Given the description of an element on the screen output the (x, y) to click on. 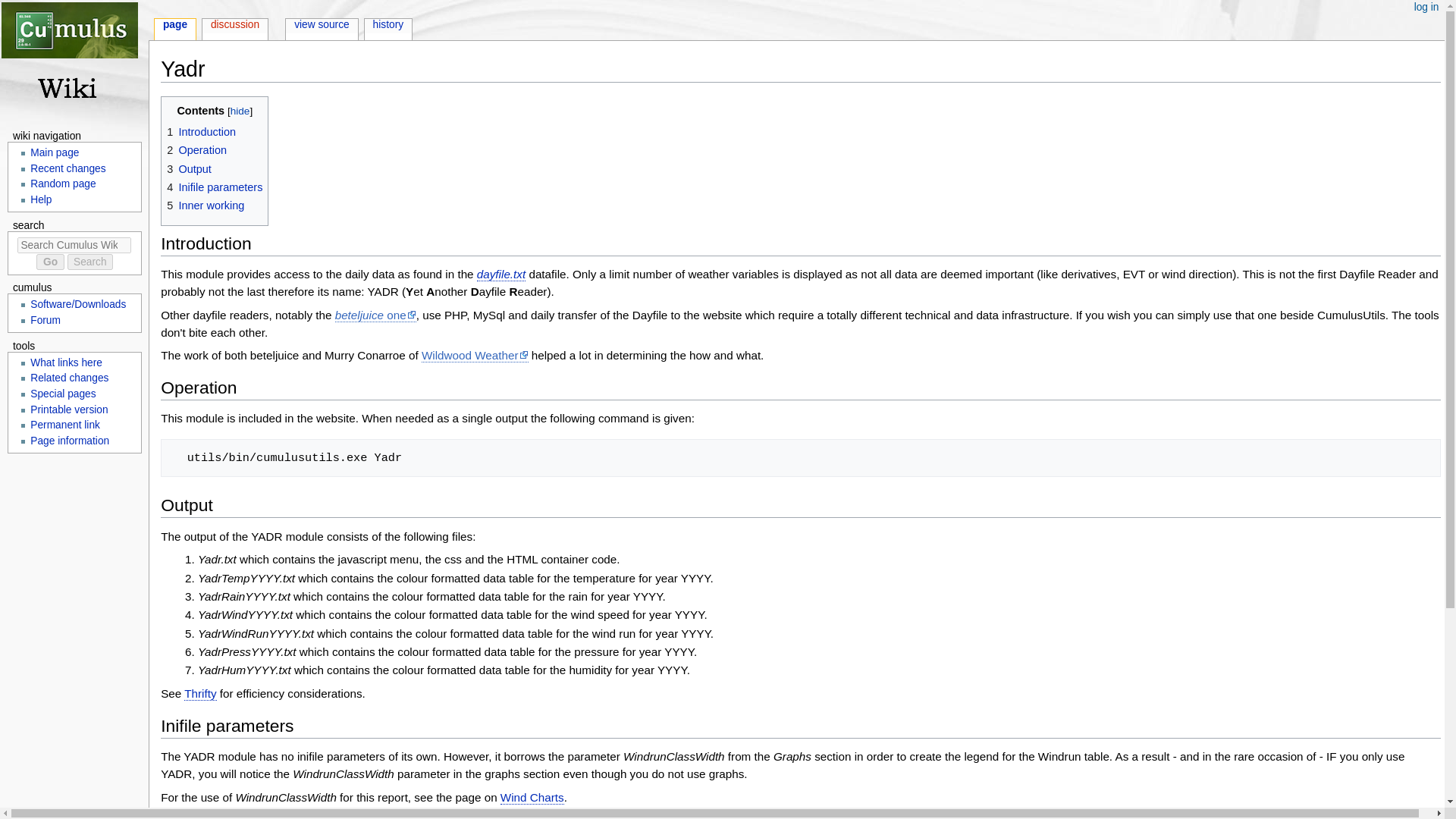
Permanent link (65, 424)
Recent changes (67, 168)
Go (50, 261)
Wildwood Weather (475, 355)
1 Introduction (201, 132)
Special pages (63, 393)
discussion (234, 25)
5 Inner working (205, 205)
Random page (63, 183)
view source (321, 25)
Printable version (68, 408)
Search (89, 261)
Forum (45, 319)
Go (50, 261)
